Given the description of an element on the screen output the (x, y) to click on. 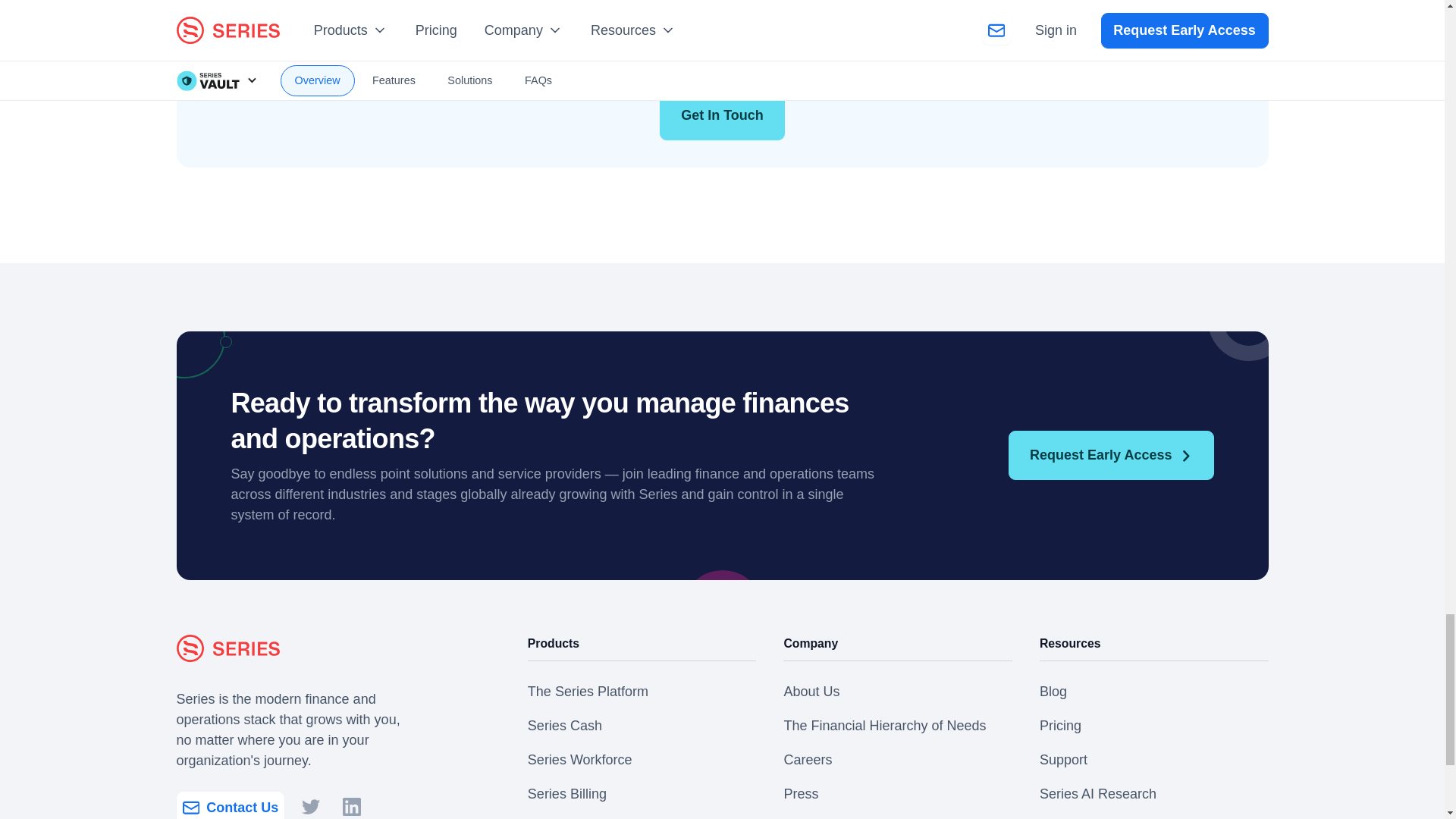
Request Early Access (1110, 454)
Get In Touch (721, 115)
